Given the description of an element on the screen output the (x, y) to click on. 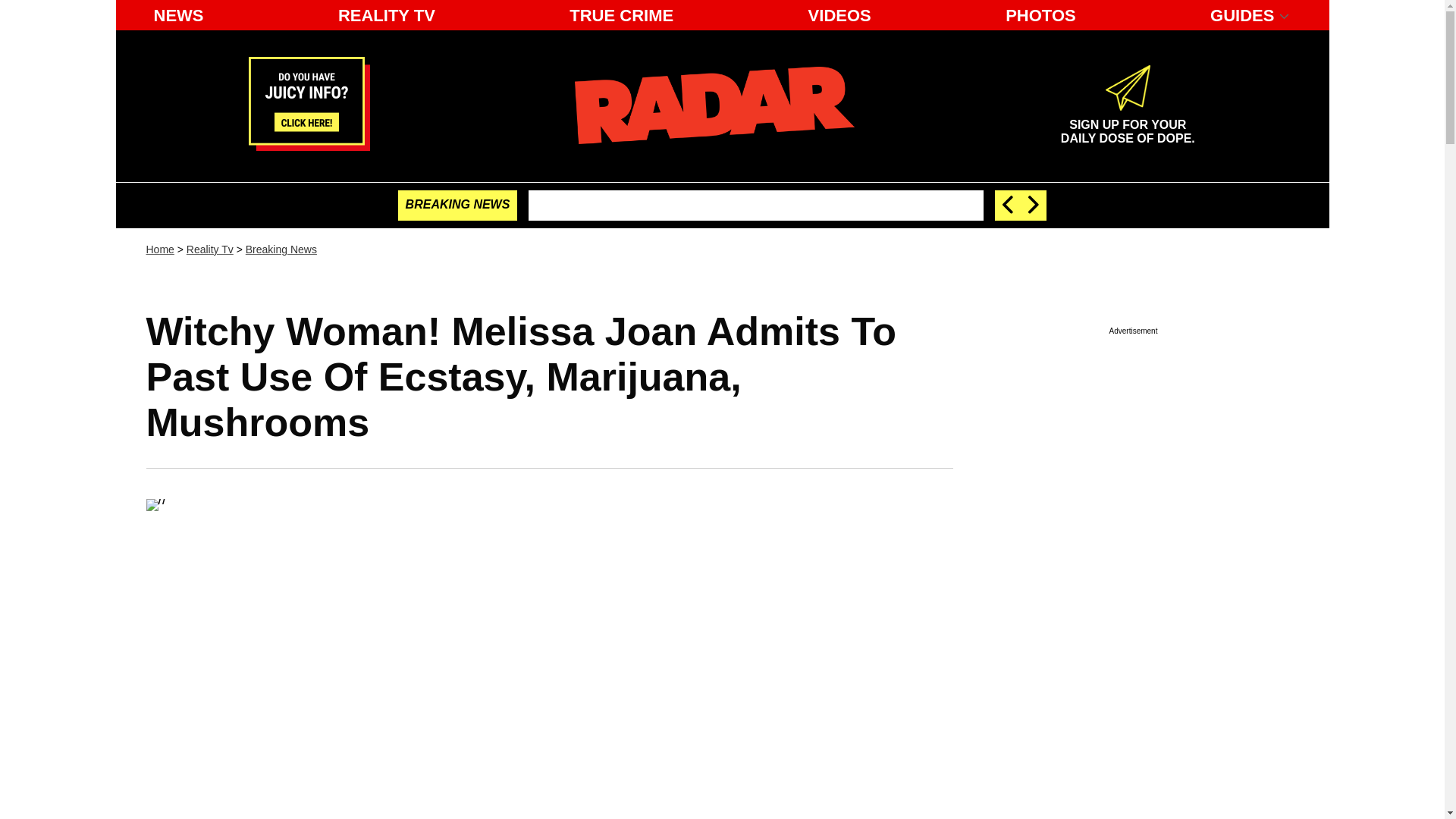
VIDEOS (839, 15)
Sign up for your daily dose of dope. (1127, 124)
Breaking News (281, 249)
REALITY TV (386, 15)
Reality Tv (209, 249)
PHOTOS (1040, 15)
NEWS (178, 15)
TRUE CRIME (621, 15)
Radar Online (1127, 124)
